Given the description of an element on the screen output the (x, y) to click on. 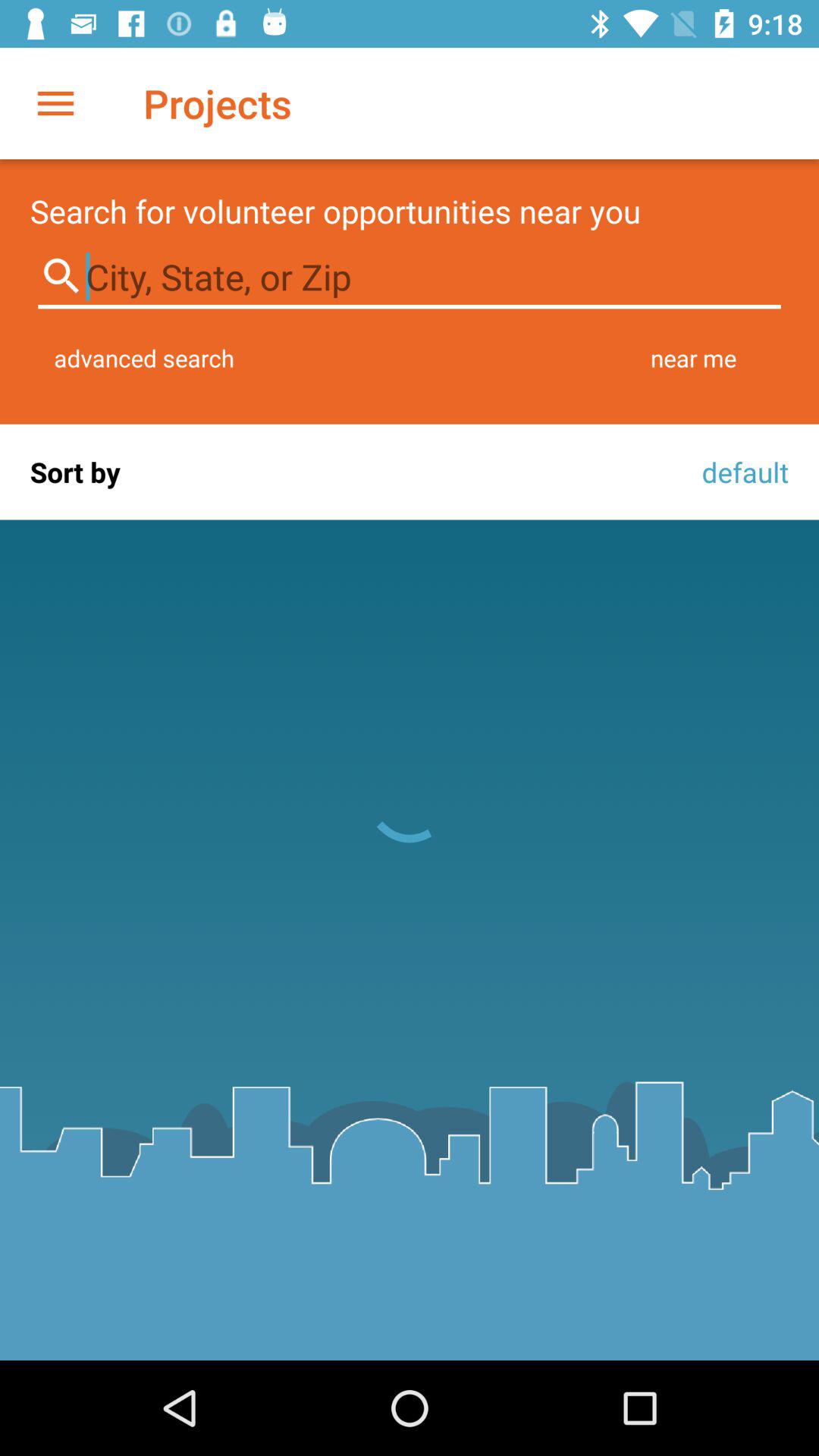
choose near me (692, 358)
